Given the description of an element on the screen output the (x, y) to click on. 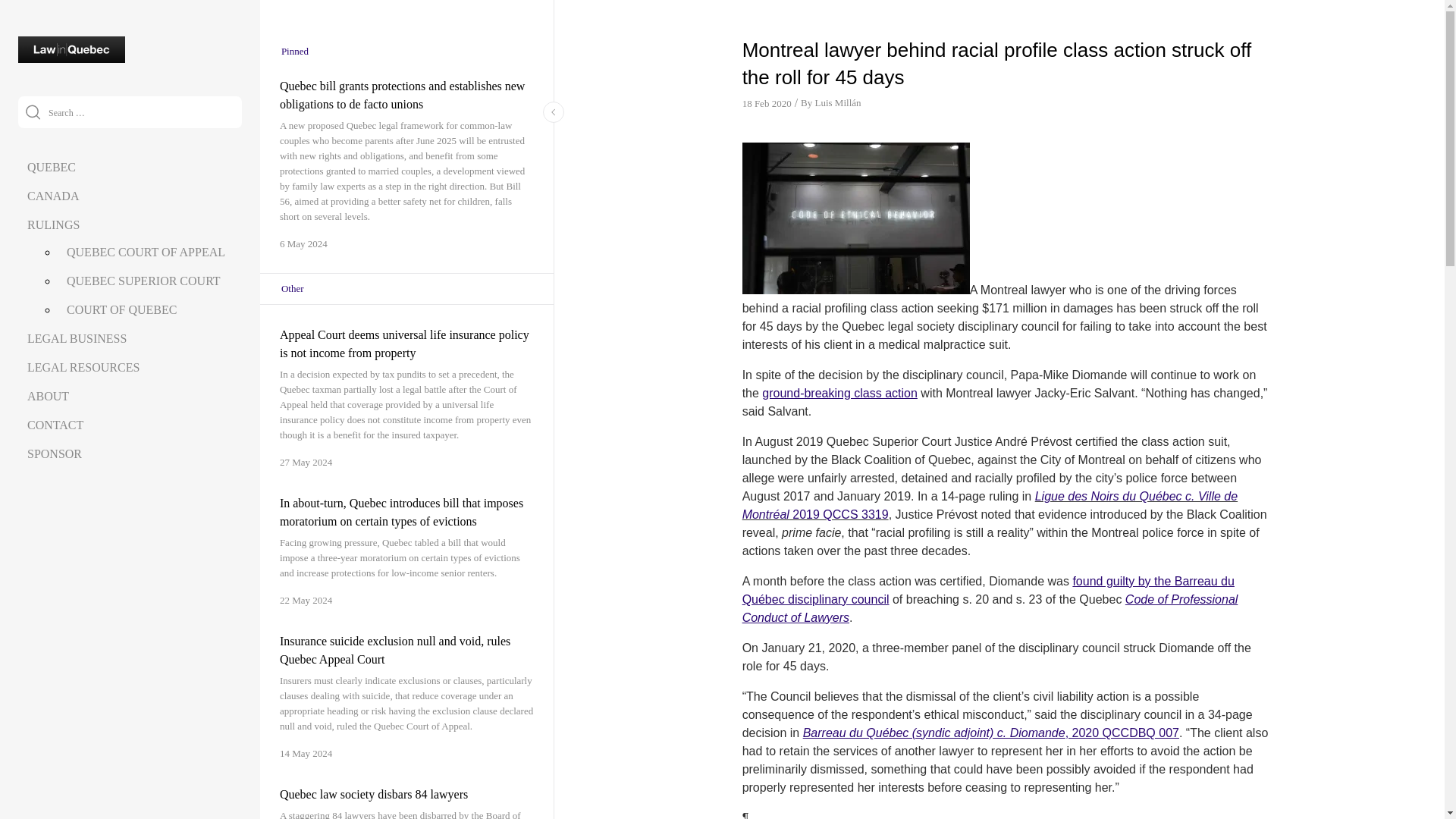
Code of Professional Conduct of Lawyers (990, 608)
COURT OF QUEBEC (121, 309)
CANADA (52, 195)
LEGAL BUSINESS (76, 338)
CONTACT (54, 424)
LEGAL RESOURCES (83, 367)
ground-breaking class action (839, 392)
RULINGS (53, 224)
QUEBEC (51, 166)
ABOUT (47, 395)
